Given the description of an element on the screen output the (x, y) to click on. 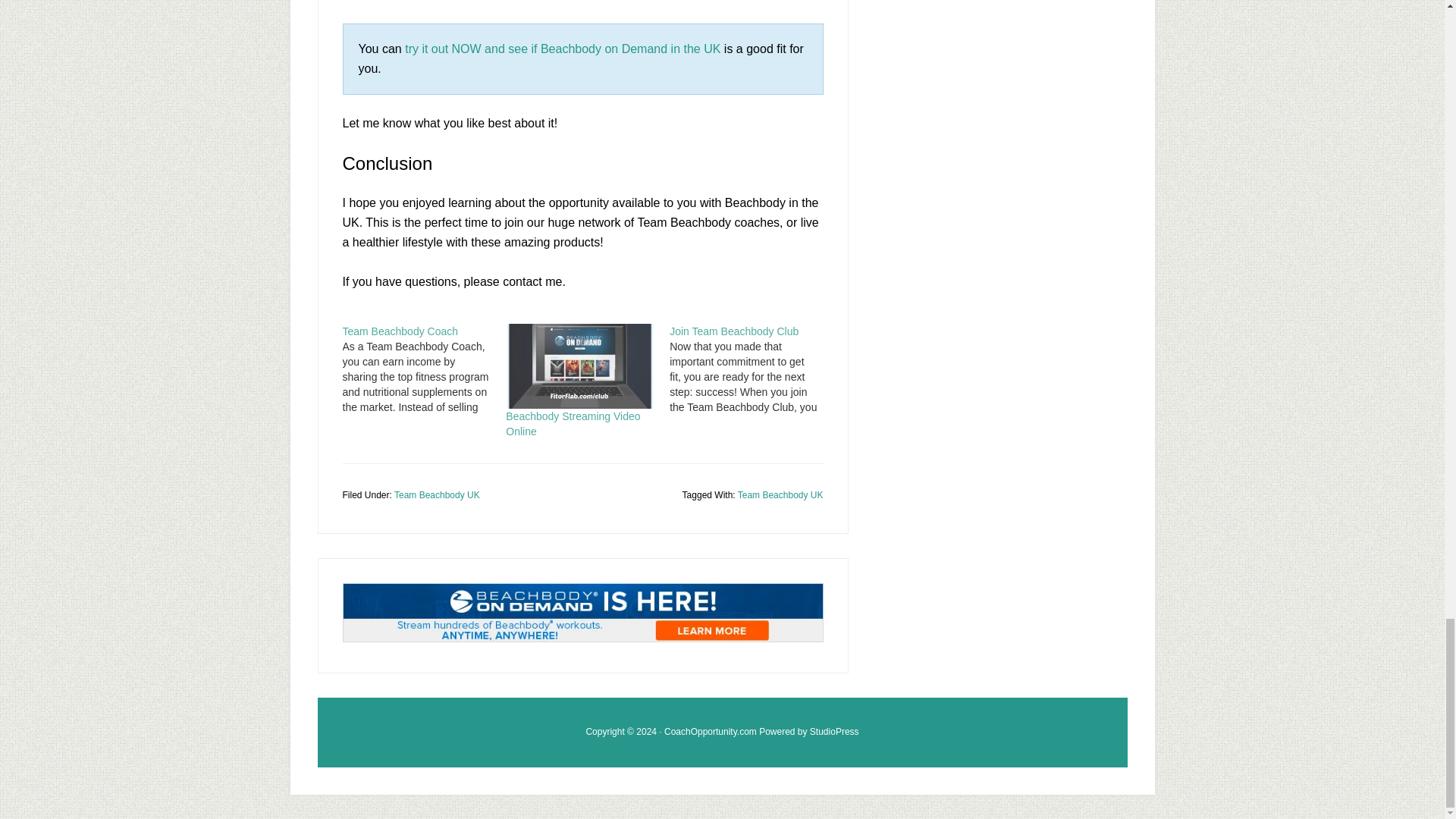
Join Team Beachbody Club (733, 331)
try it out NOW and see if Beachbody on Demand in the UK (562, 48)
Join Team Beachbody Club (733, 331)
Beachbody Streaming Video Online (572, 423)
Team Beachbody UK (437, 494)
Team Beachbody Coach (400, 331)
Beachbody Streaming Video Online (579, 365)
Team Beachbody Coach (400, 331)
Team Beachbody UK (781, 494)
Team Beachbody Coach (424, 368)
Join Team Beachbody Club (750, 368)
Beachbody Streaming Video Online (572, 423)
